Given the description of an element on the screen output the (x, y) to click on. 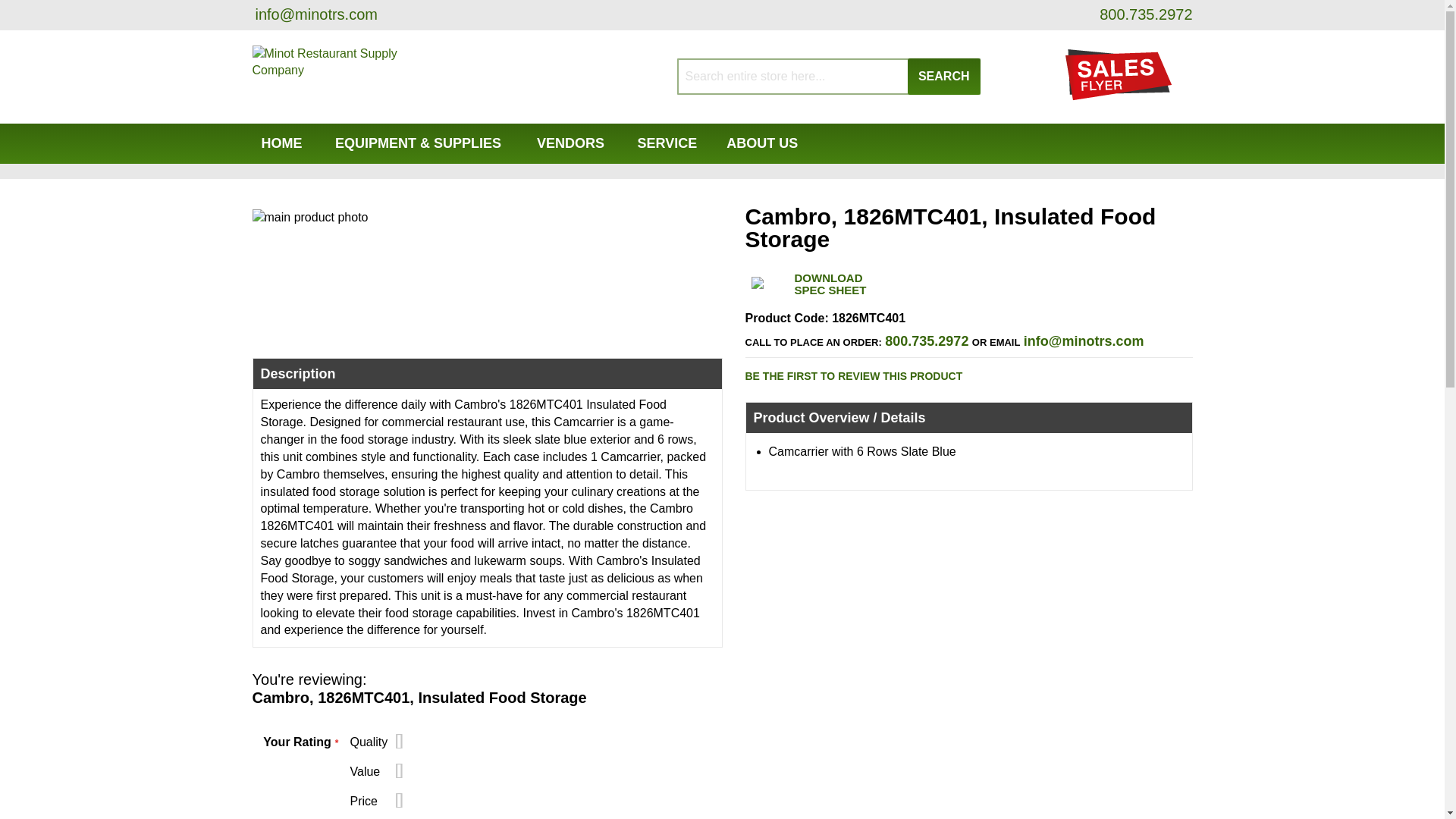
SEARCH (943, 76)
Minot Restaurant Supply Company (349, 76)
HOME (281, 143)
800.735.2972 (1144, 13)
